Given the description of an element on the screen output the (x, y) to click on. 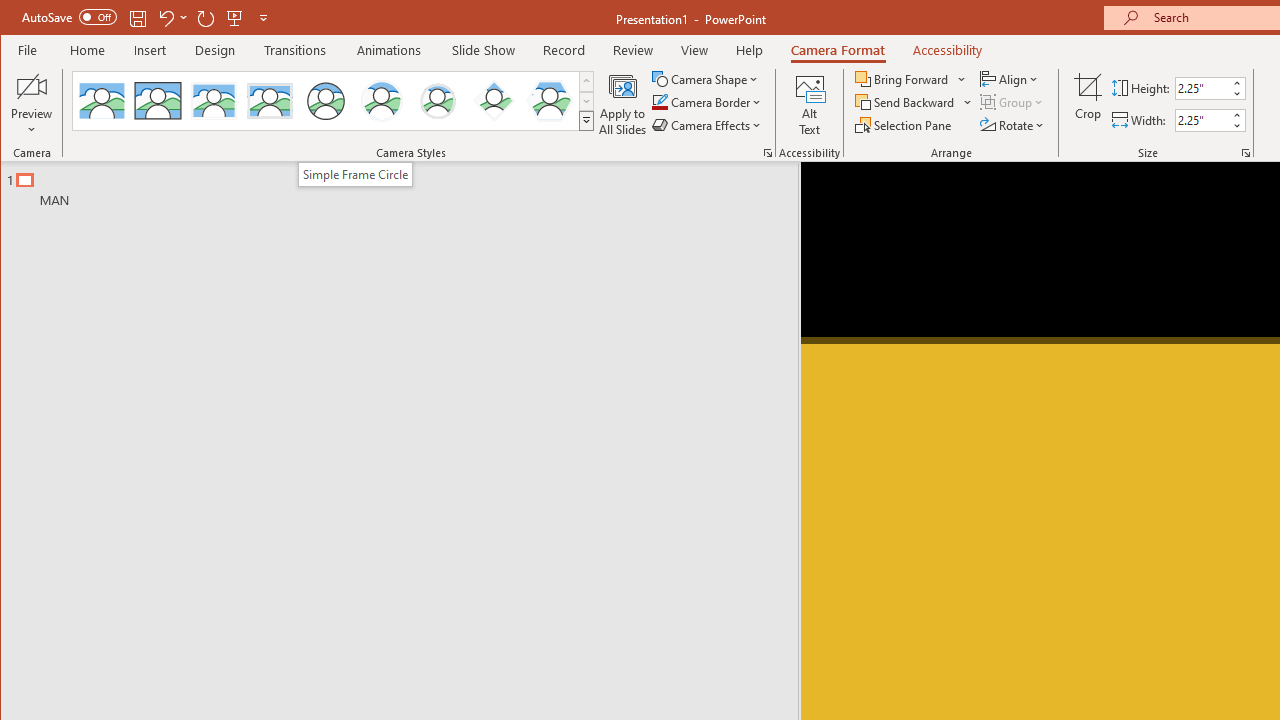
Send Backward (914, 101)
Less (1236, 125)
Soft Edge Rectangle (269, 100)
Size and Position... (1245, 152)
No Style (102, 100)
Align (1010, 78)
Center Shadow Circle (381, 100)
Group (1012, 101)
Camera Shape (706, 78)
Bring Forward (911, 78)
Rotate (1013, 124)
